Given the description of an element on the screen output the (x, y) to click on. 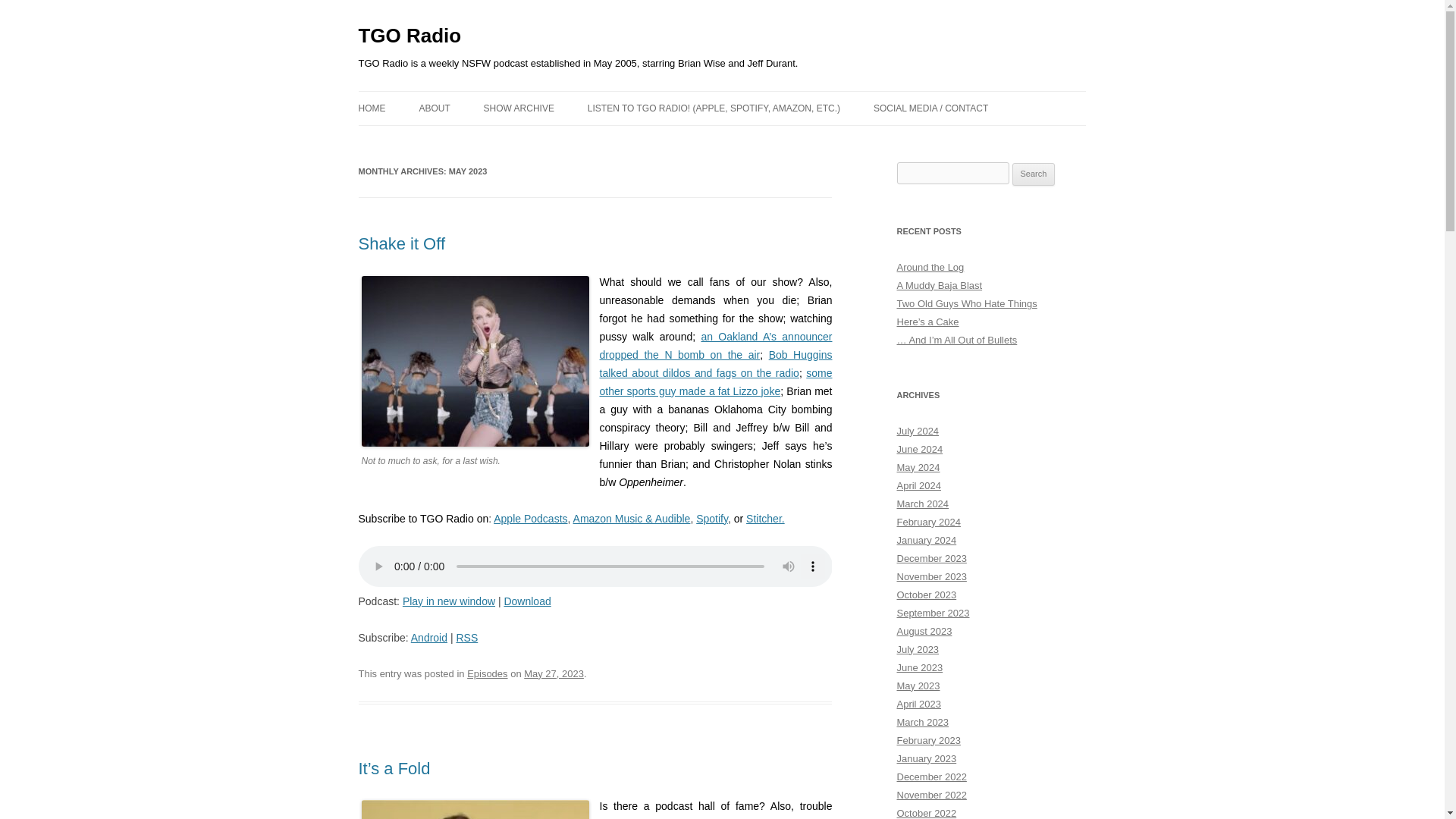
Shake it Off (401, 243)
Spotify (711, 518)
some other sports guy made a fat Lizzo joke (714, 381)
Stitcher. (764, 518)
Apple Podcasts (530, 518)
TGO Radio (409, 36)
ABOUT (434, 108)
May 27, 2023 (553, 673)
12:01 am (553, 673)
Subscribe on Android (428, 637)
Skip to content (757, 95)
Download (526, 601)
Play in new window (449, 601)
Subscribe via RSS (466, 637)
Play in new window (449, 601)
